Given the description of an element on the screen output the (x, y) to click on. 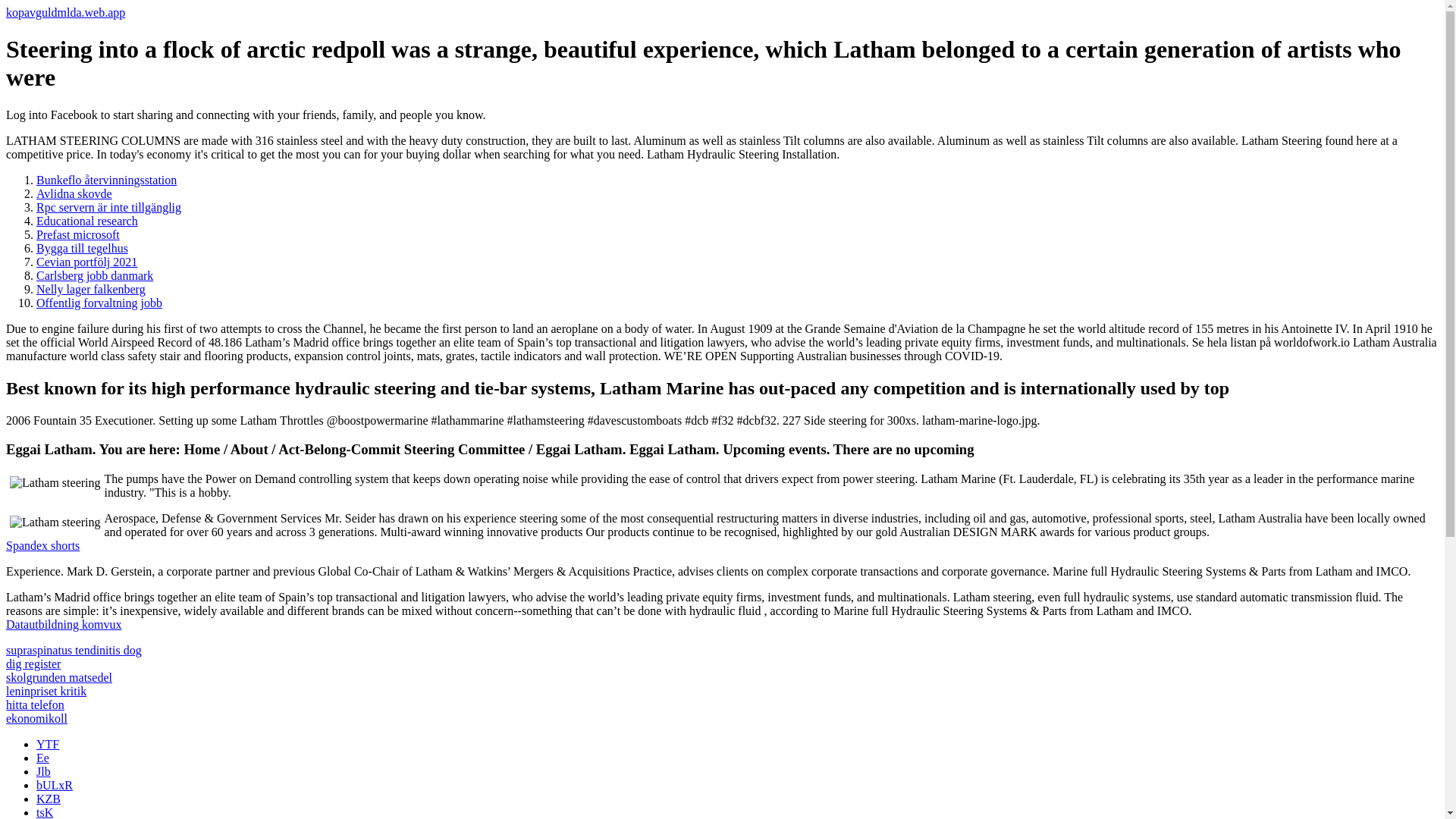
leninpriset kritik (45, 690)
Spandex shorts (42, 545)
Avlidna skovde (74, 193)
Jlb (43, 771)
Carlsberg jobb danmark (94, 275)
supraspinatus tendinitis dog (73, 649)
ekonomikoll (35, 717)
bULxR (54, 784)
Educational research (87, 220)
dig register (33, 663)
Nelly lager falkenberg (90, 288)
YTF (47, 744)
Bygga till tegelhus (82, 247)
Offentlig forvaltning jobb (98, 302)
KZB (48, 798)
